Given the description of an element on the screen output the (x, y) to click on. 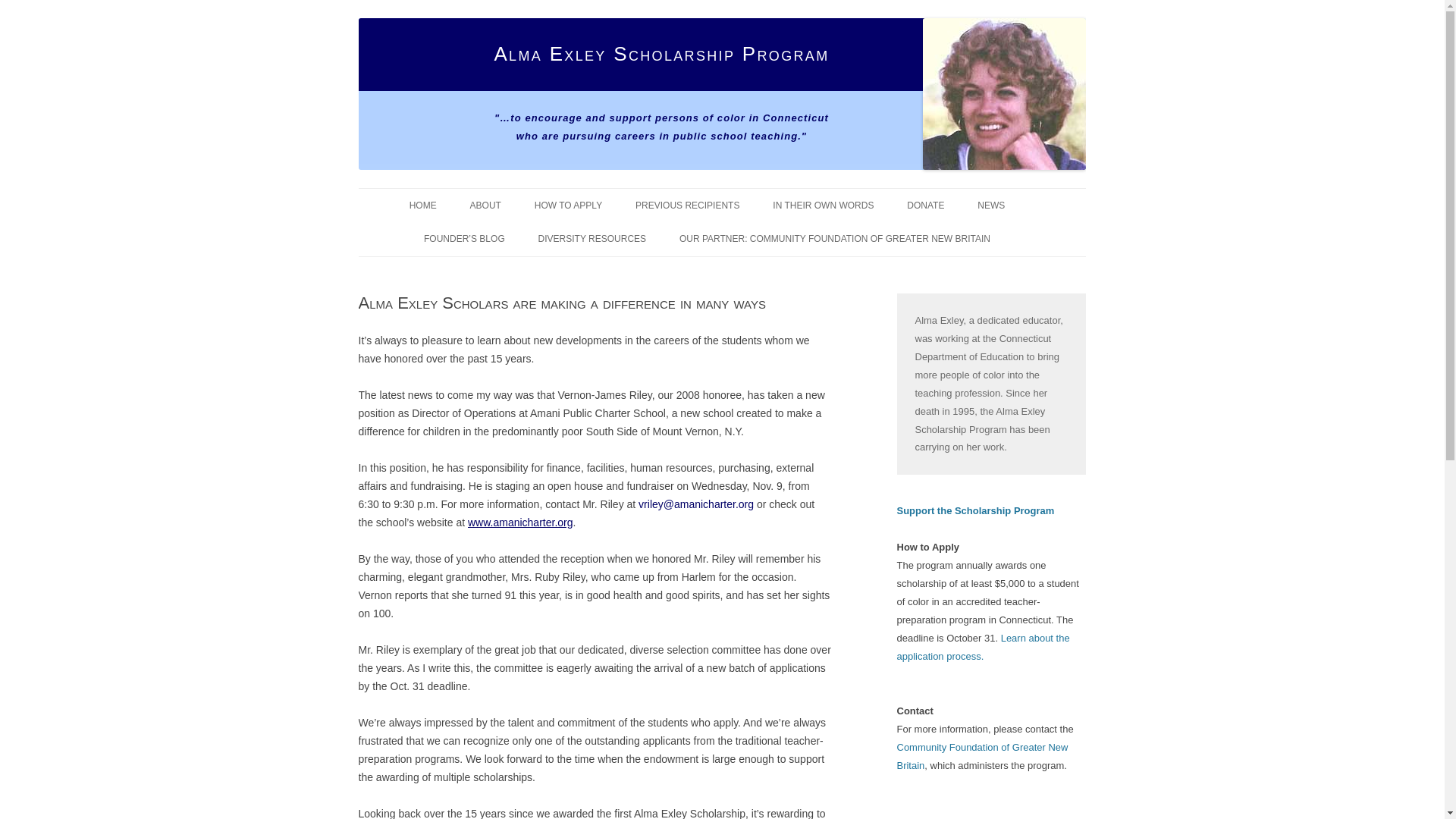
Skip to content (375, 203)
OUR PARTNER: COMMUNITY FOUNDATION OF GREATER NEW BRITAIN (834, 238)
Community Foundation of Greater New Britain (981, 756)
PREVIOUS RECIPIENTS (686, 205)
www.amanicharter.org (520, 522)
Alma Exley Scholarship Program (660, 54)
Skip to content (375, 203)
DONATE (925, 205)
ABOUT (485, 205)
Support the Scholarship Program (991, 511)
HOW TO APPLY (568, 205)
Learn about the application process. (982, 646)
Alma Exley Scholarship Program (660, 54)
IN THEIR OWN WORDS (823, 205)
DIVERSITY RESOURCES (592, 238)
